Given the description of an element on the screen output the (x, y) to click on. 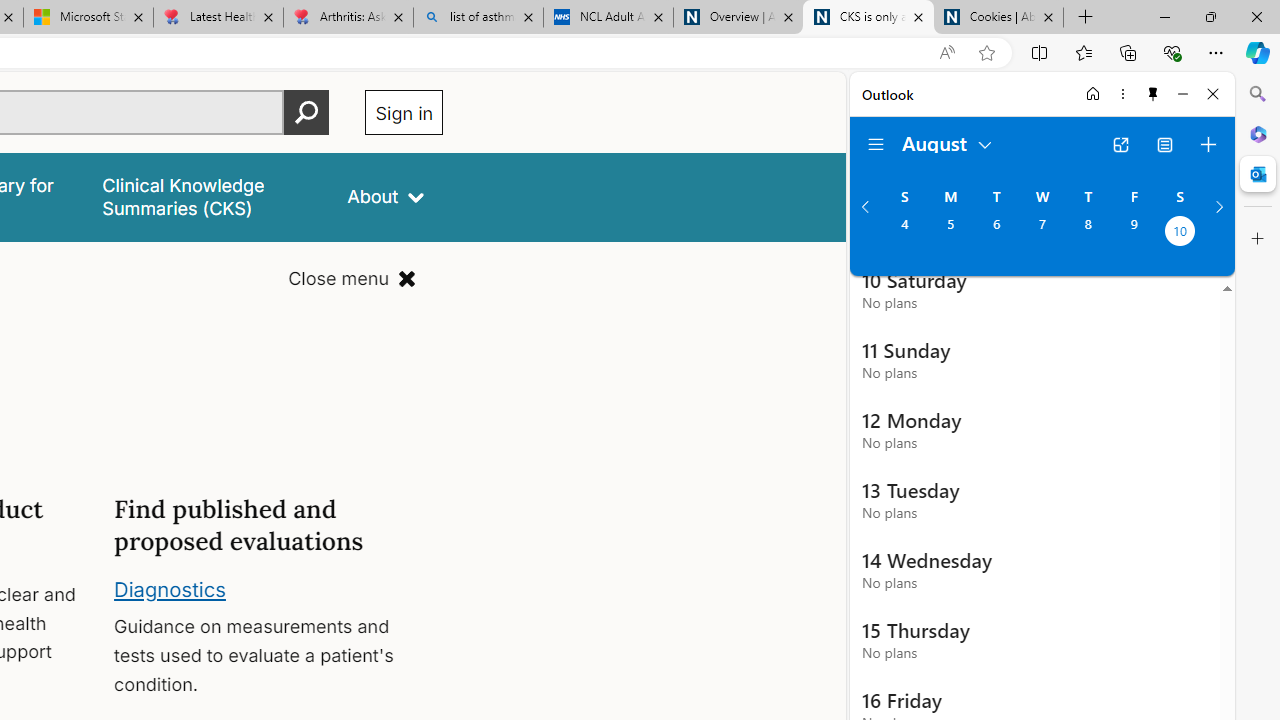
Folder navigation (876, 144)
Tuesday, August 6, 2024.  (996, 233)
Create event (1208, 144)
